Given the description of an element on the screen output the (x, y) to click on. 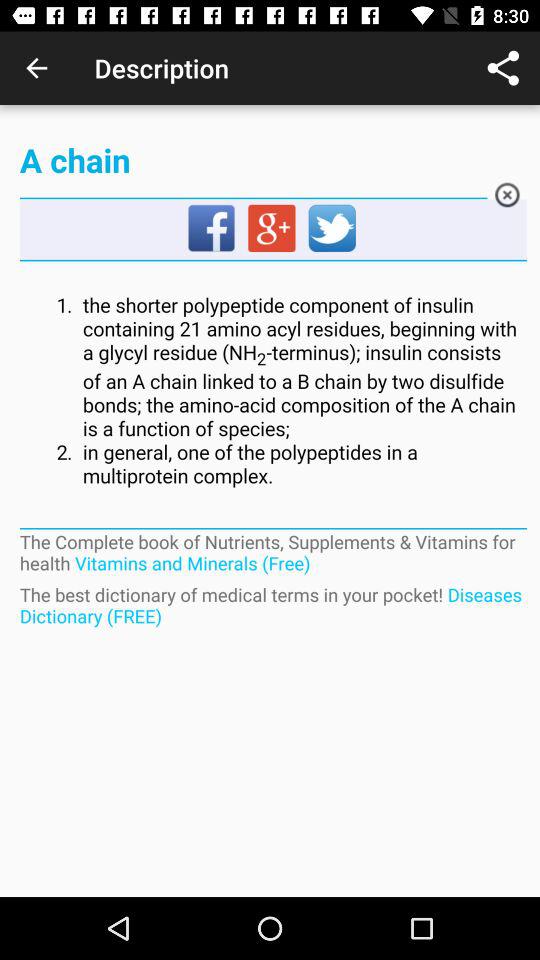
google opption (273, 229)
